Given the description of an element on the screen output the (x, y) to click on. 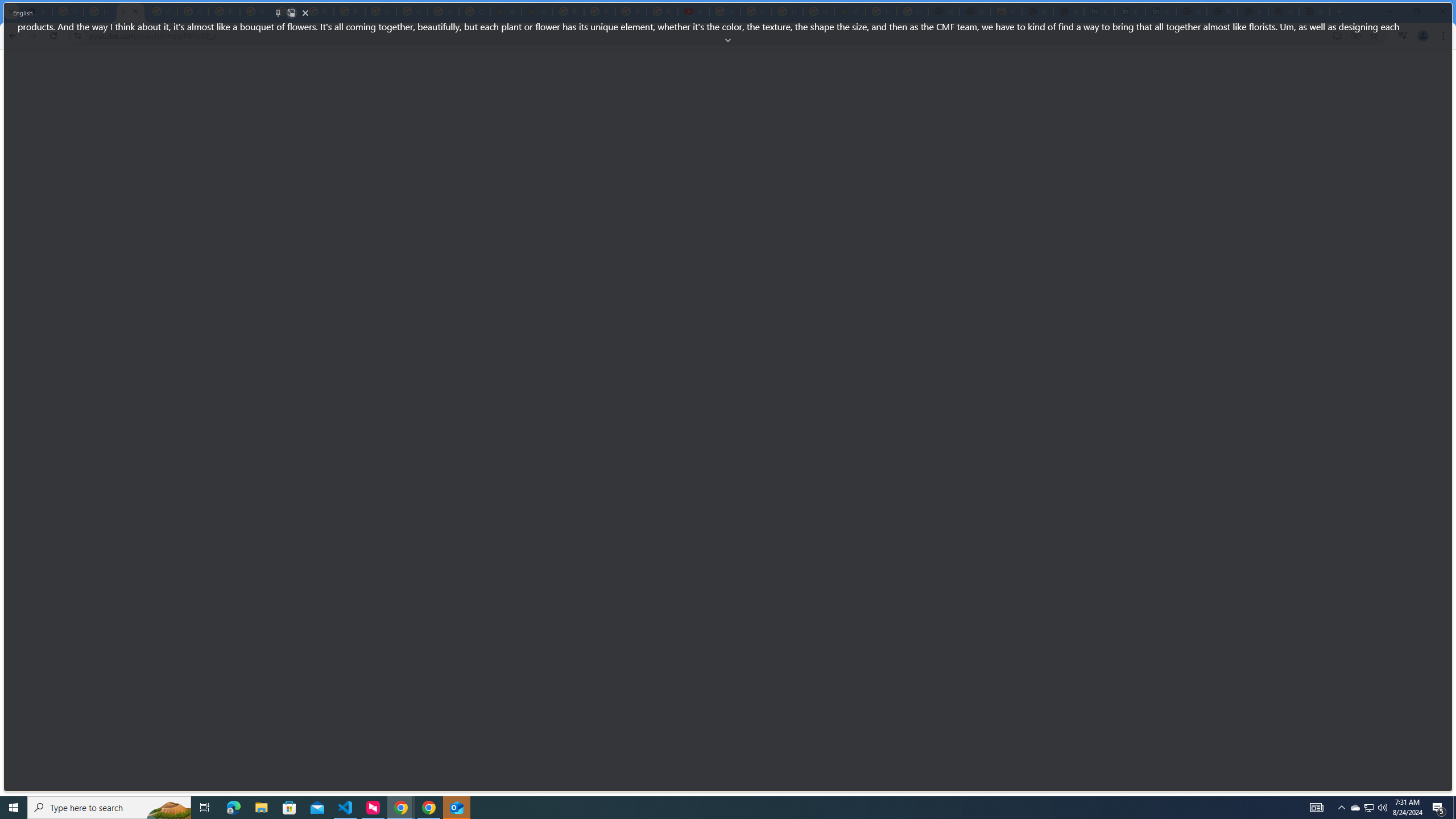
Cookie Policy | LinkedIn (1129, 11)
Install YouTube (1336, 35)
Settings - Customize profile (36, 11)
YouTube (255, 11)
Privacy Help Center - Policies Help (599, 11)
Privacy Help Center - Policies Help (631, 11)
New Tab (1314, 11)
